Given the description of an element on the screen output the (x, y) to click on. 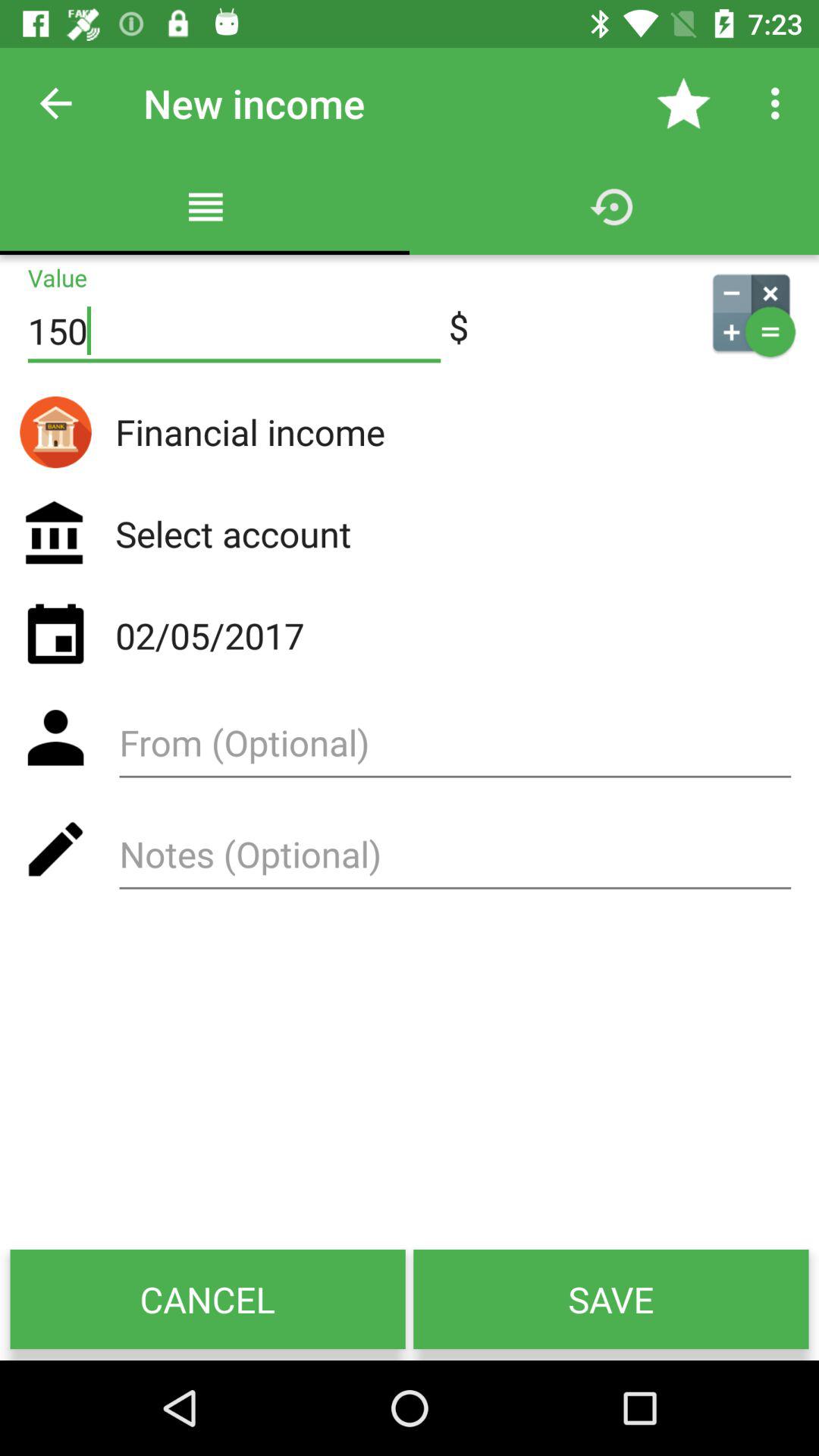
open computer (751, 312)
